Given the description of an element on the screen output the (x, y) to click on. 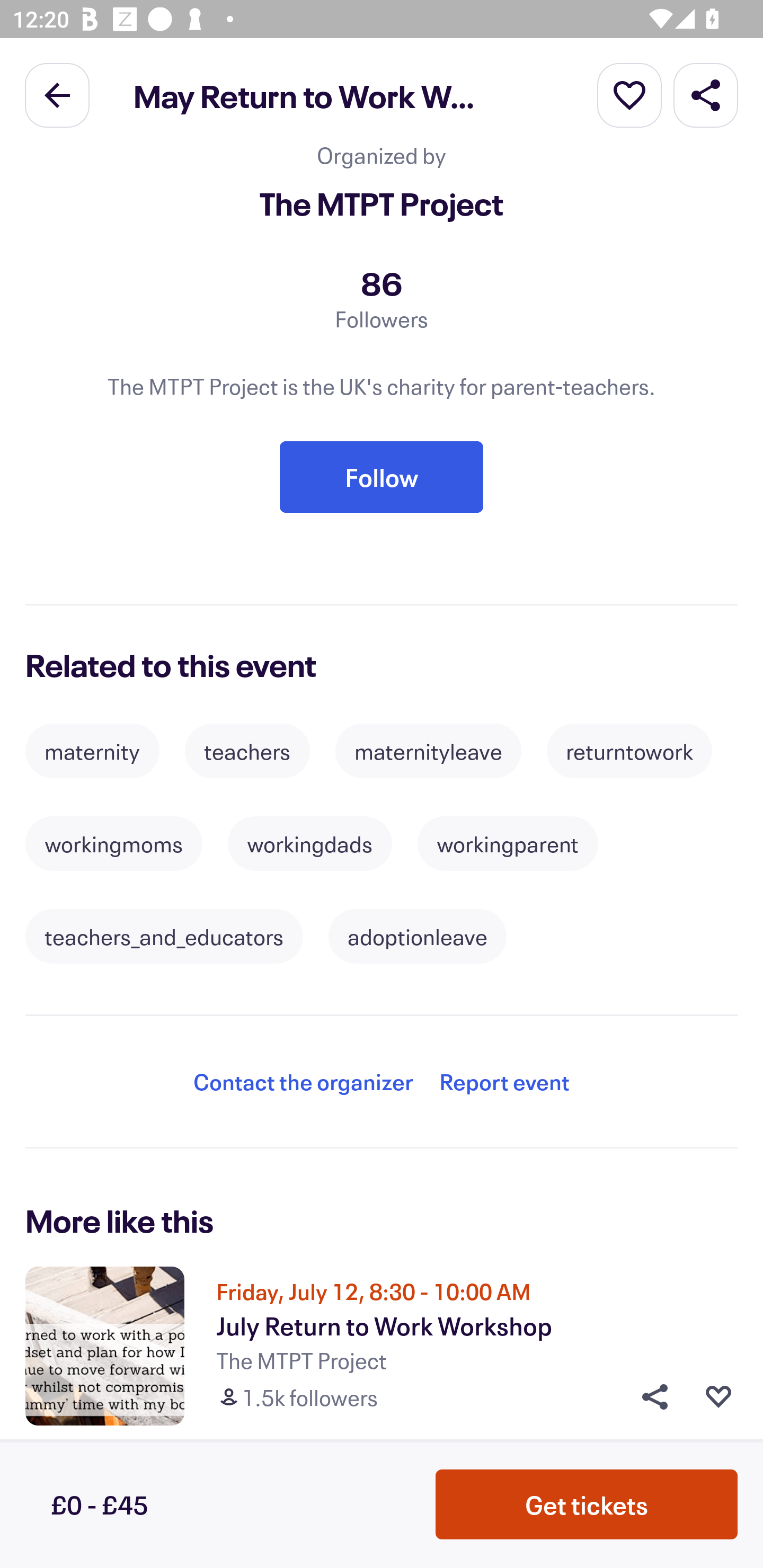
Back (57, 94)
More (629, 94)
Share (705, 94)
The MTPT Project (381, 202)
Follow (381, 477)
maternity (92, 750)
teachers (246, 750)
maternityleave (428, 750)
returntowork (629, 750)
workingmoms (113, 843)
workingdads (310, 843)
workingparent (507, 843)
teachers_and_educators (163, 936)
adoptionleave (417, 936)
Contact the organizer (303, 1081)
Report event (504, 1081)
Share (648, 1396)
Like (718, 1396)
Get tickets (586, 1504)
